Given the description of an element on the screen output the (x, y) to click on. 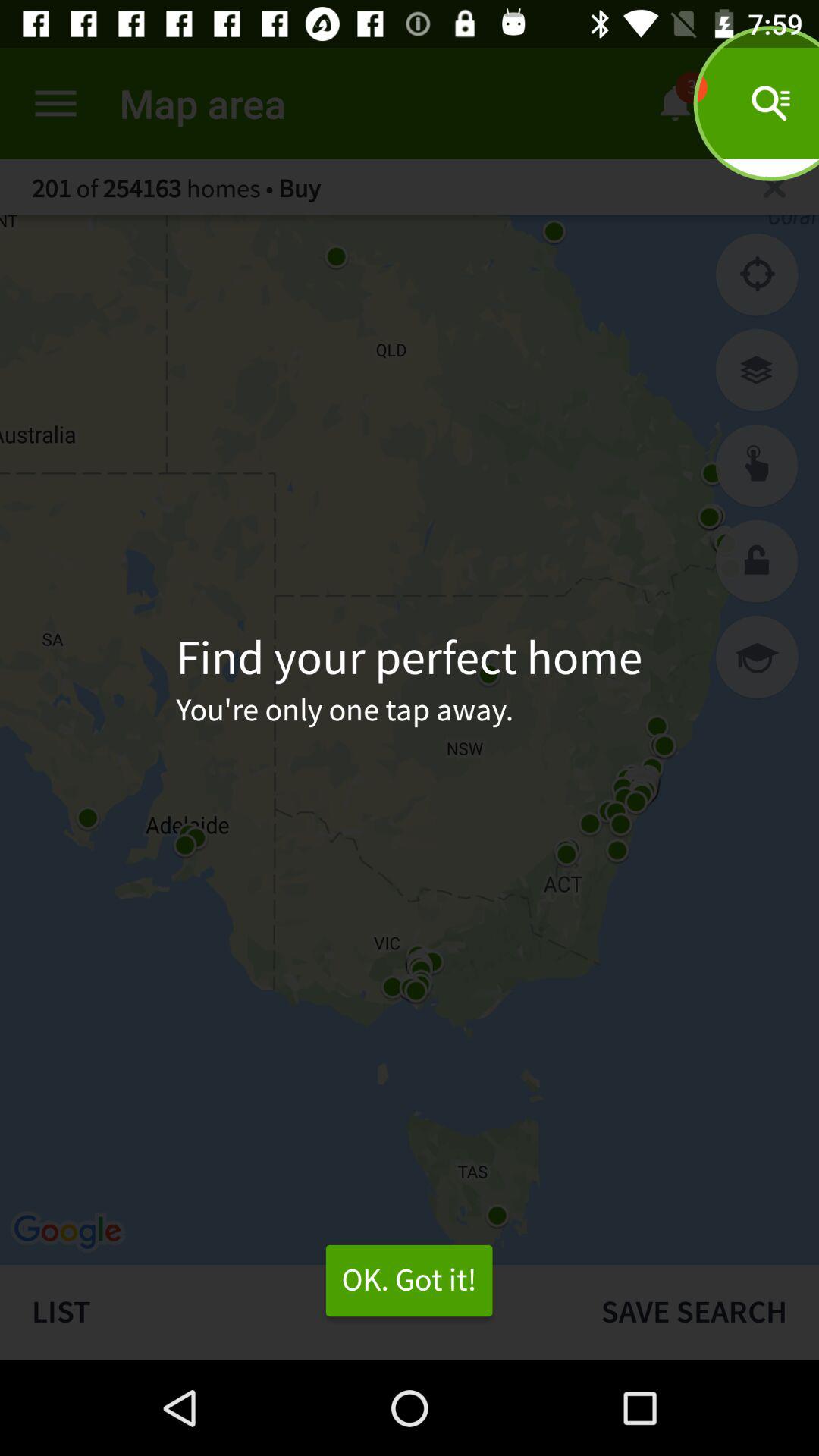
press the list item (284, 1312)
